Given the description of an element on the screen output the (x, y) to click on. 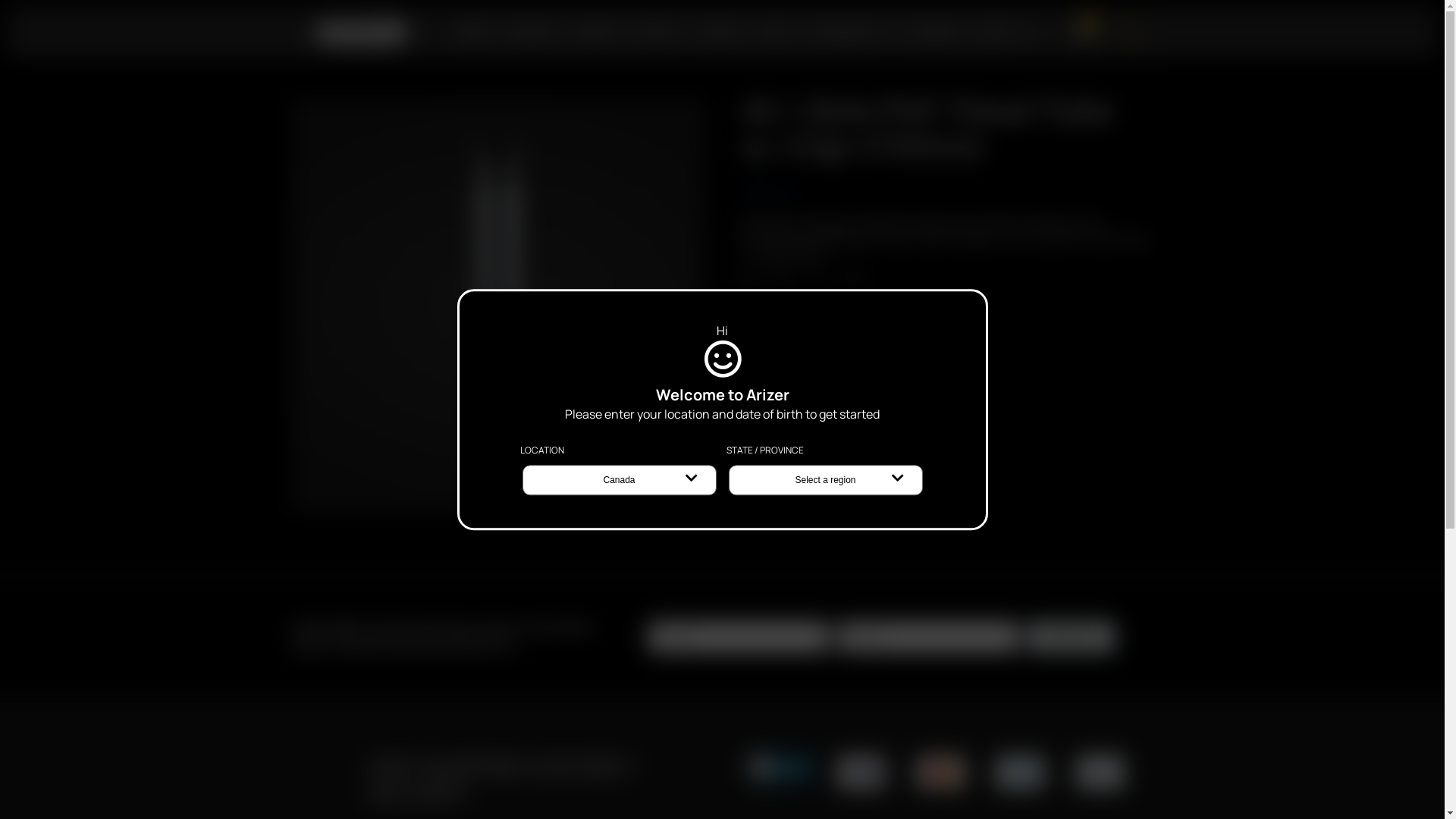
Visa Element type: hover (860, 772)
AIR SE Element type: text (605, 32)
Master Card Element type: hover (940, 772)
AIR MAX Element type: text (539, 32)
0 Element type: text (1086, 30)
SIGN UP Element type: text (1071, 636)
Qty Element type: hover (817, 278)
PayPal Element type: hover (1099, 772)
Arizer Element type: hover (359, 32)
American Express Element type: hover (1019, 772)
Accredited Business Element type: hover (781, 771)
Air & Air II, Solo PVC Tube With Cap -110mm Element type: hover (496, 304)
DEALS Element type: text (475, 32)
ARGO Element type: text (730, 32)
Air / Solo Glass Aroma Tube (110mm) Element type: text (834, 403)
V-TOWER Element type: text (937, 32)
XQ2 Element type: text (784, 32)
VAULT Element type: text (1007, 32)
ADD TO CART Element type: text (802, 330)
SOLO II Element type: text (668, 32)
EXTREME Q Element type: text (853, 32)
